Given the description of an element on the screen output the (x, y) to click on. 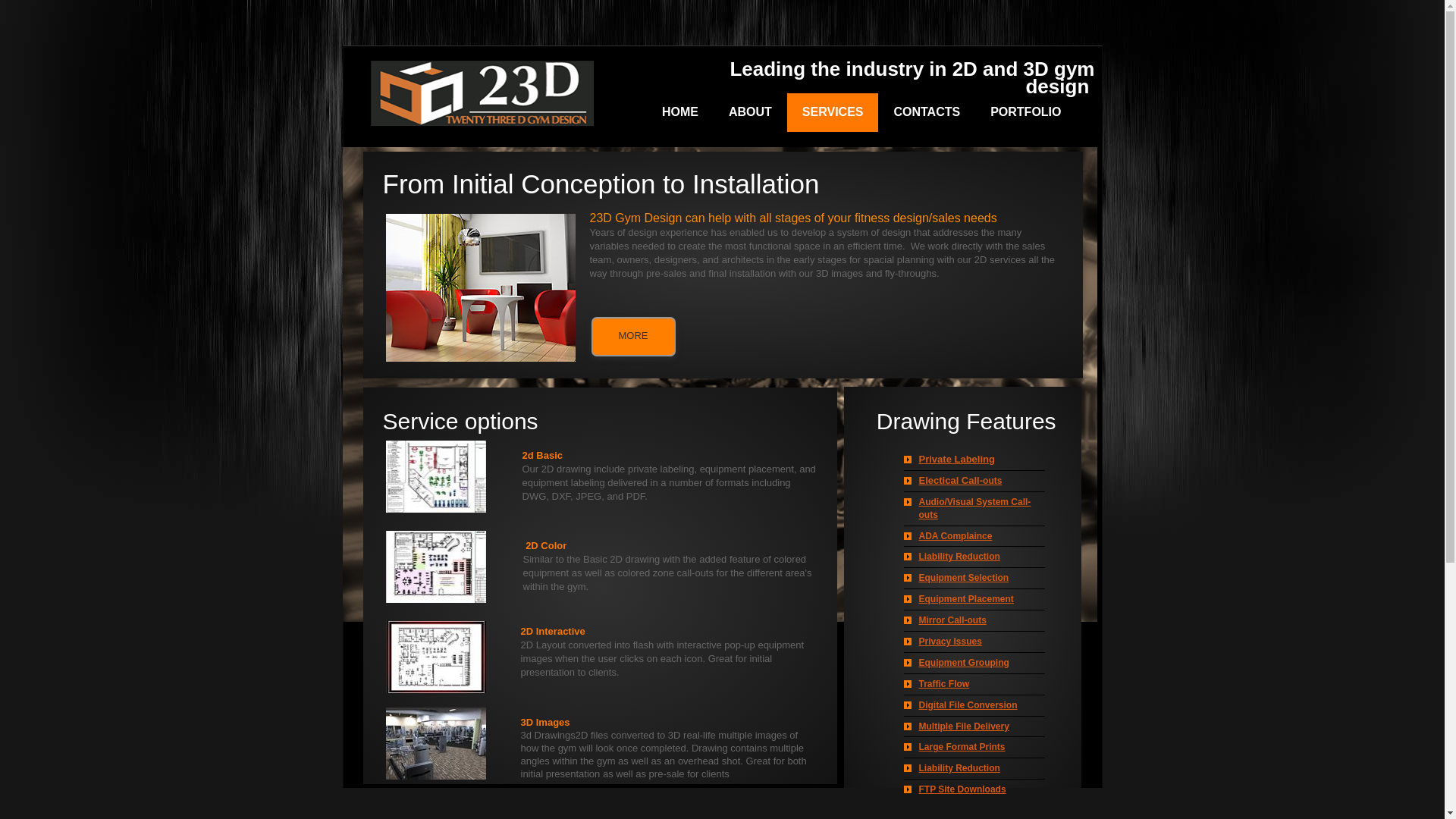
Electical Call-outs Element type: text (960, 480)
Private Labeling Element type: text (956, 458)
HOME Element type: text (679, 112)
Audio/Visual System Call-outs Element type: text (975, 508)
MORE Element type: text (633, 336)
Digital File Conversion Element type: text (968, 704)
Equipment Selection Element type: text (964, 577)
ABOUT Element type: text (750, 112)
Liability Reduction Element type: text (959, 767)
CONTACTS Element type: text (926, 112)
Privacy Issues Element type: text (950, 641)
Traffic Flow Element type: text (944, 683)
Mirror Call-outs Element type: text (952, 620)
Equipment Grouping Element type: text (964, 662)
ADA Complaince Element type: text (955, 535)
FTP Site Downloads Element type: text (962, 789)
Large Format Prints Element type: text (962, 746)
SERVICES Element type: text (832, 112)
PORTFOLIO Element type: text (1025, 112)
Equipment Placement Element type: text (966, 598)
Multiple File Delivery Element type: text (964, 726)
Liability Reduction Element type: text (959, 556)
